Given the description of an element on the screen output the (x, y) to click on. 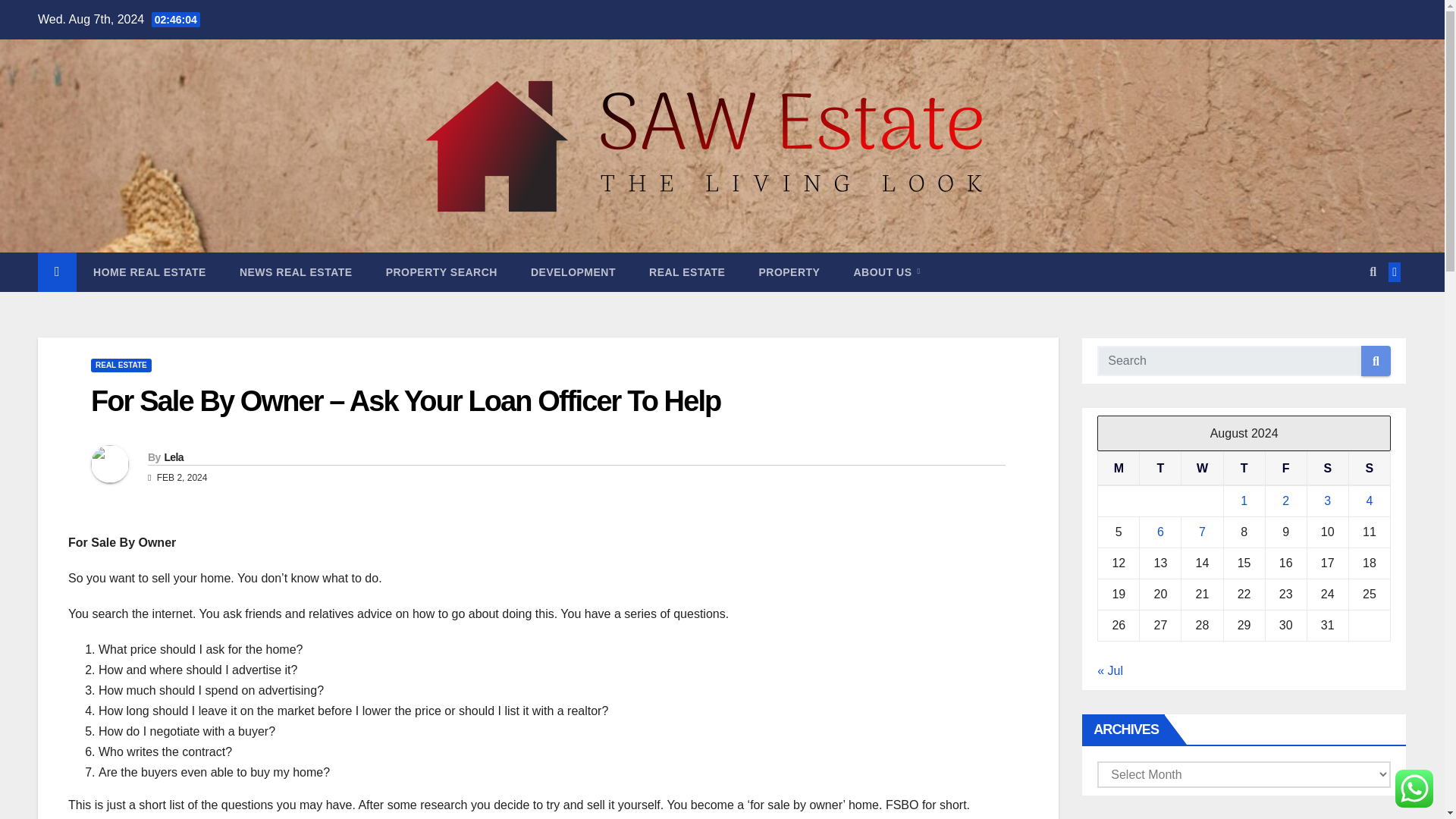
Property (788, 271)
ABOUT US (885, 271)
Lela (173, 457)
Home Real Estate (149, 271)
Development (572, 271)
NEWS REAL ESTATE (295, 271)
DEVELOPMENT (572, 271)
About Us (885, 271)
PROPERTY SEARCH (441, 271)
Property Search (441, 271)
